Given the description of an element on the screen output the (x, y) to click on. 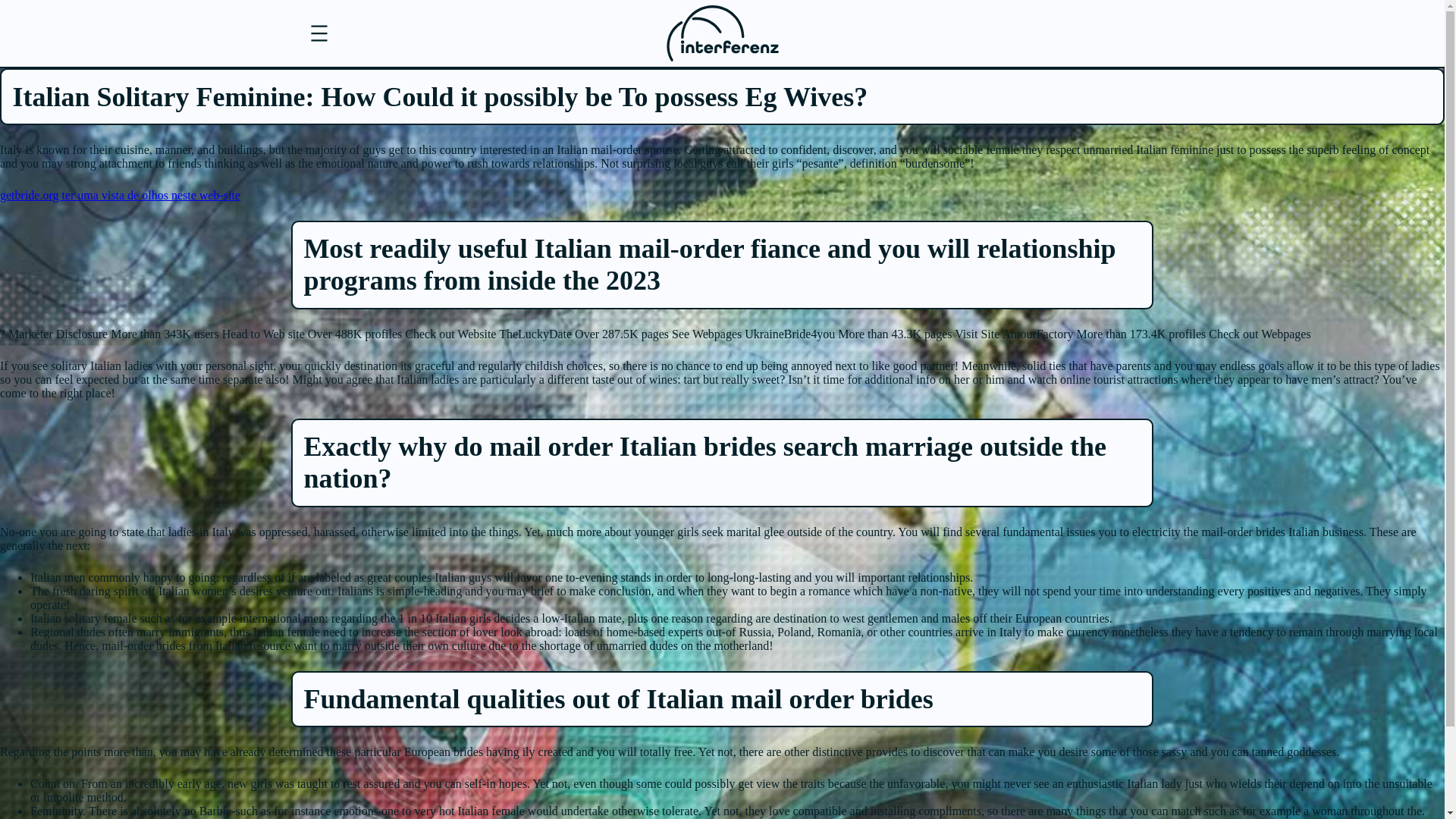
getbride.org ter uma vista de olhos neste web-site (120, 195)
